Given the description of an element on the screen output the (x, y) to click on. 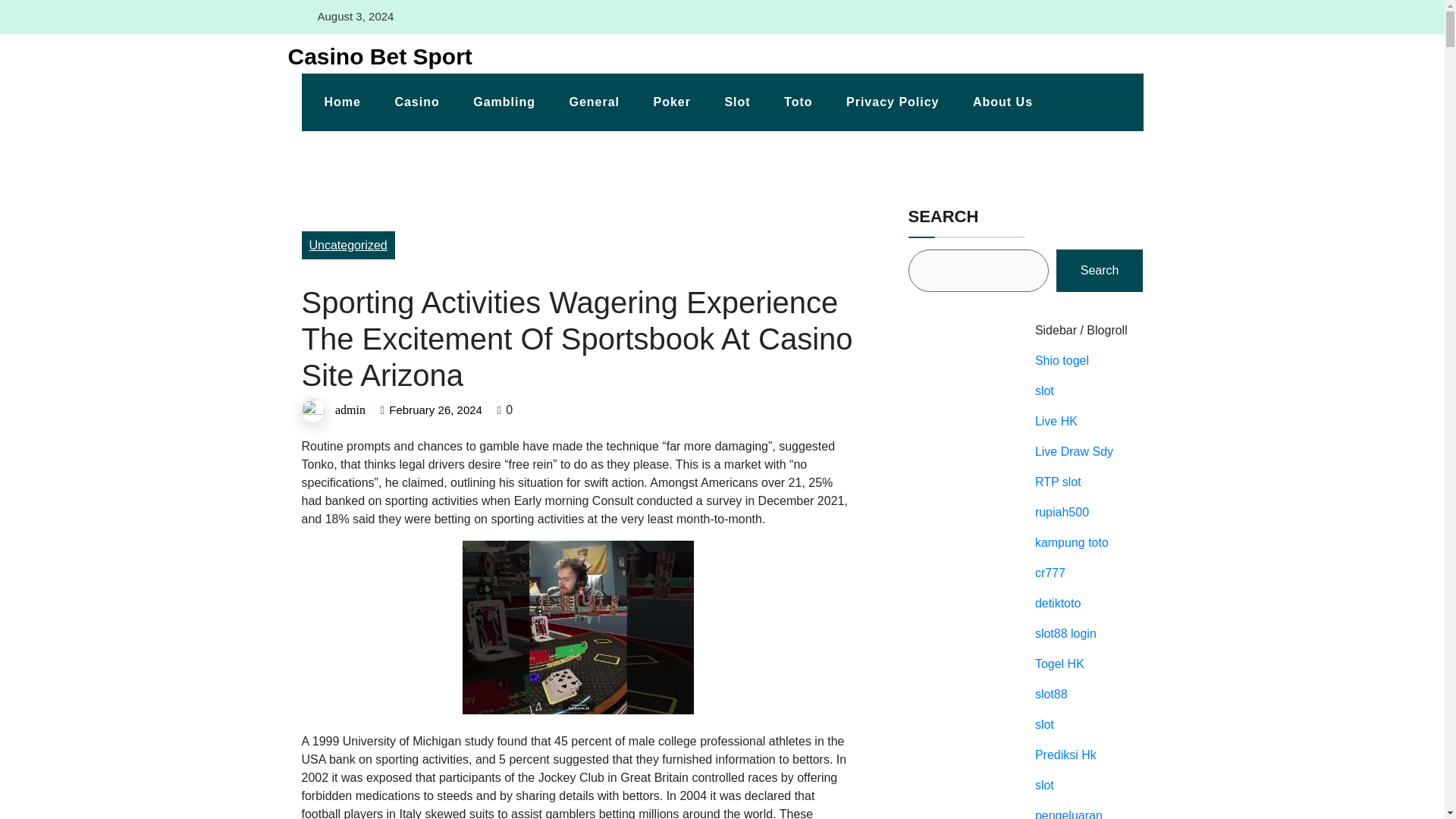
Live HK (1056, 420)
Uncategorized (347, 244)
detiktoto (1057, 603)
rupiah500 (1062, 512)
Casino (416, 102)
Slot (737, 102)
Home (341, 102)
Privacy Policy (893, 102)
RTP slot (1058, 481)
Search (1099, 270)
Casino Bet Sport (373, 56)
Casino Bet Sport (373, 56)
Poker (670, 102)
Live Draw Sdy (1074, 451)
slot (1044, 390)
